Given the description of an element on the screen output the (x, y) to click on. 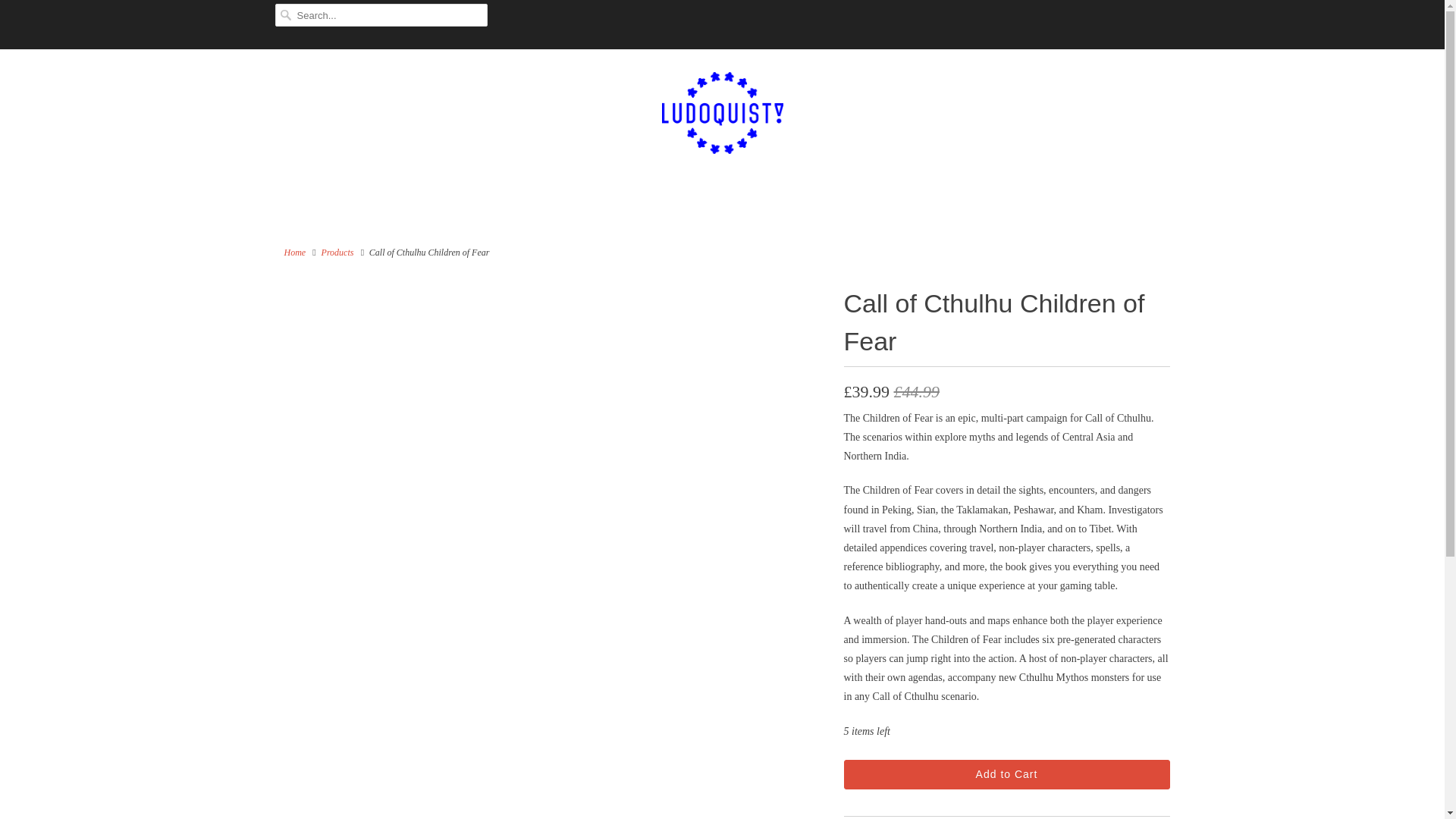
Products (337, 252)
Home (294, 252)
The Ludoquist (722, 115)
Add to Cart (1006, 774)
Products (337, 252)
The Ludoquist (294, 252)
